Given the description of an element on the screen output the (x, y) to click on. 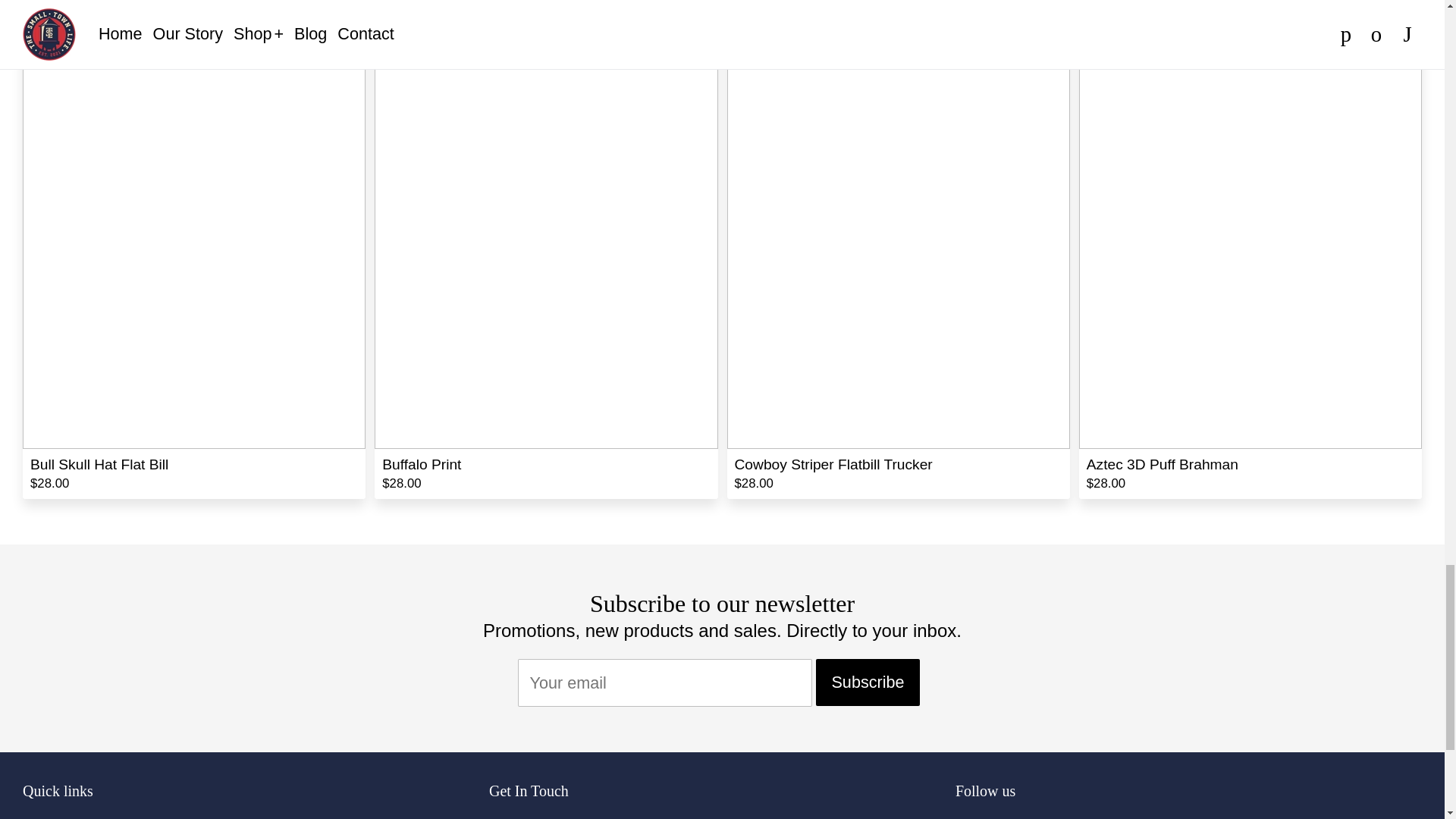
Subscribe (866, 682)
